Given the description of an element on the screen output the (x, y) to click on. 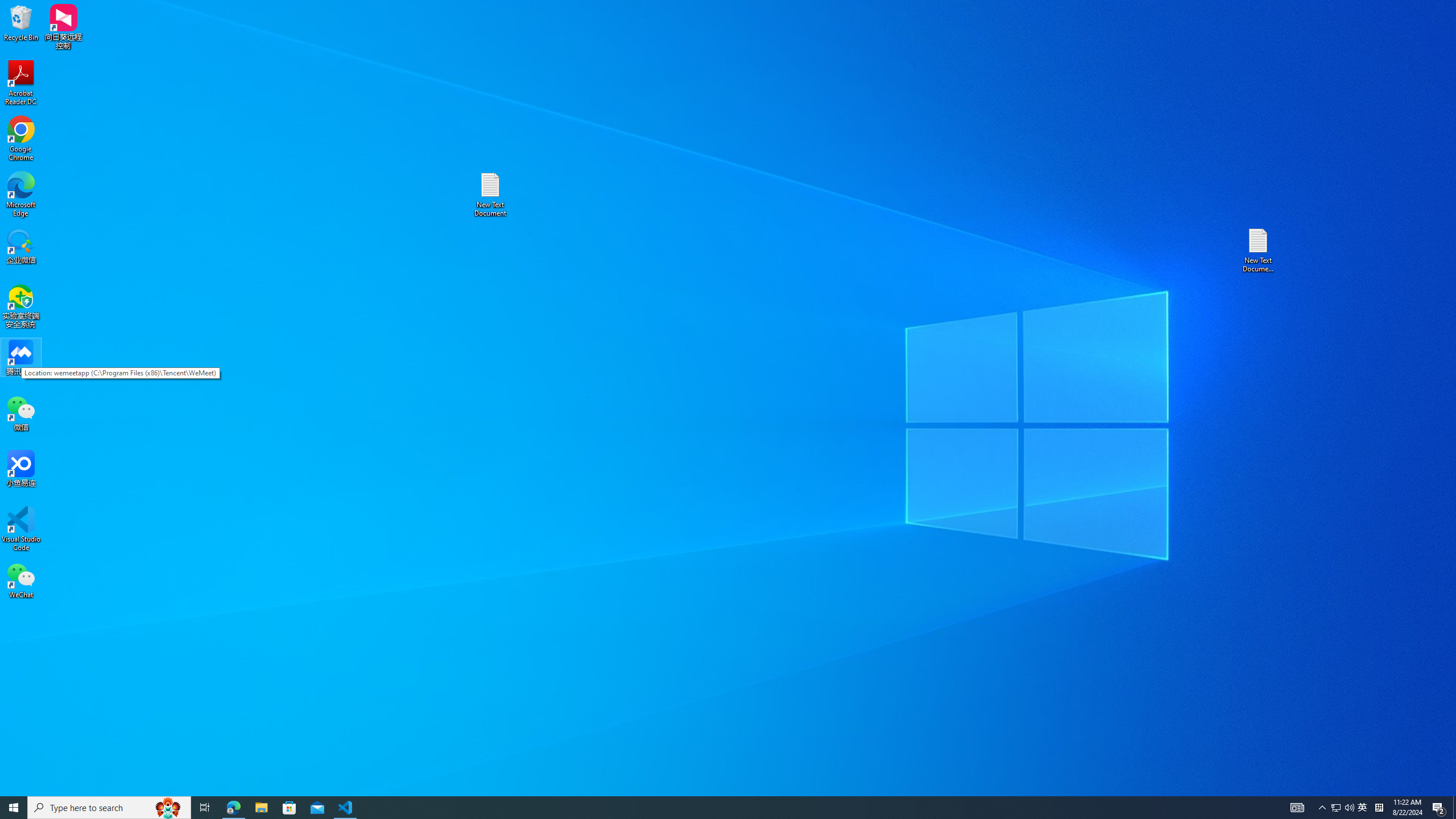
Action Center, 2 new notifications (1439, 807)
Recycle Bin (21, 22)
Search highlights icon opens search home window (167, 807)
